Given the description of an element on the screen output the (x, y) to click on. 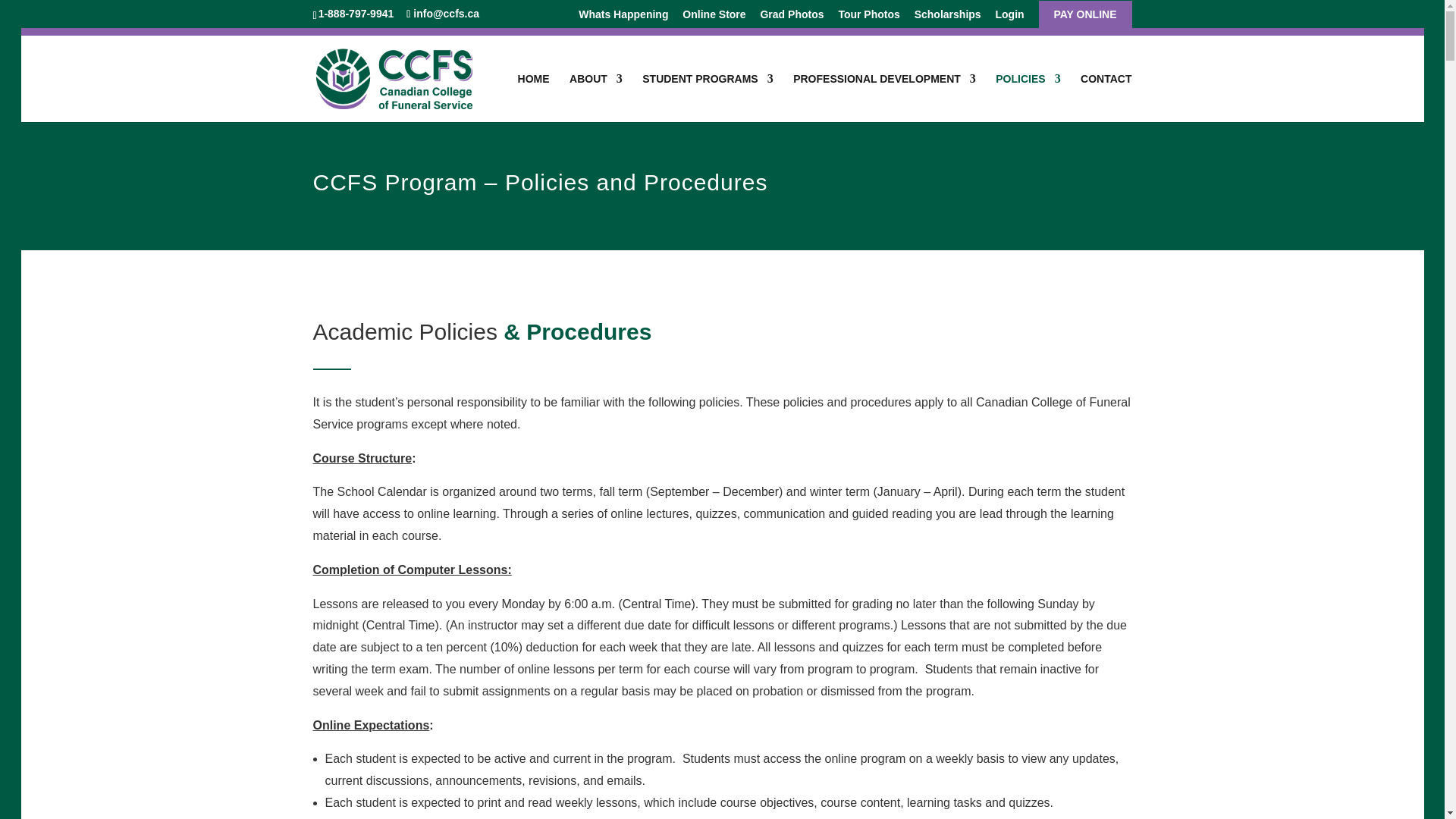
POLICIES (1027, 97)
STUDENT PROGRAMS (707, 97)
Online Store (713, 18)
Login (1008, 18)
PROFESSIONAL DEVELOPMENT (884, 97)
Scholarships (947, 18)
ABOUT (596, 97)
CONTACT (1105, 97)
PAY ONLINE (1085, 18)
1-888-797-9941 (358, 13)
Tour Photos (868, 18)
Grad Photos (792, 18)
Whats Happening (623, 18)
